Given the description of an element on the screen output the (x, y) to click on. 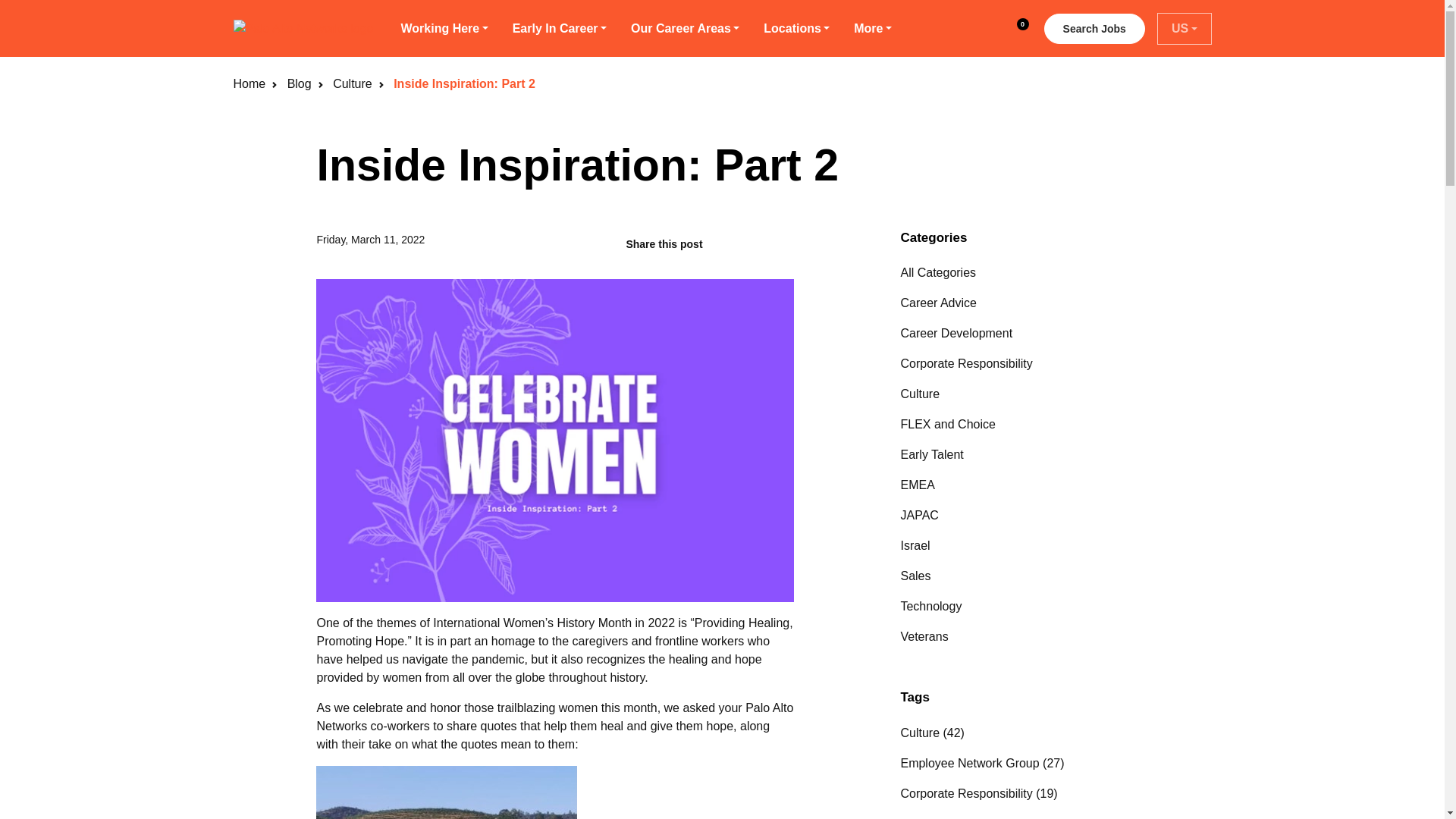
Blog (298, 83)
More (872, 28)
Culture (352, 83)
Locations (796, 28)
Home (249, 83)
US (1184, 28)
Early In Career (559, 28)
Search Jobs (1013, 28)
Our Career Areas (1093, 28)
Working Here (684, 28)
